Given the description of an element on the screen output the (x, y) to click on. 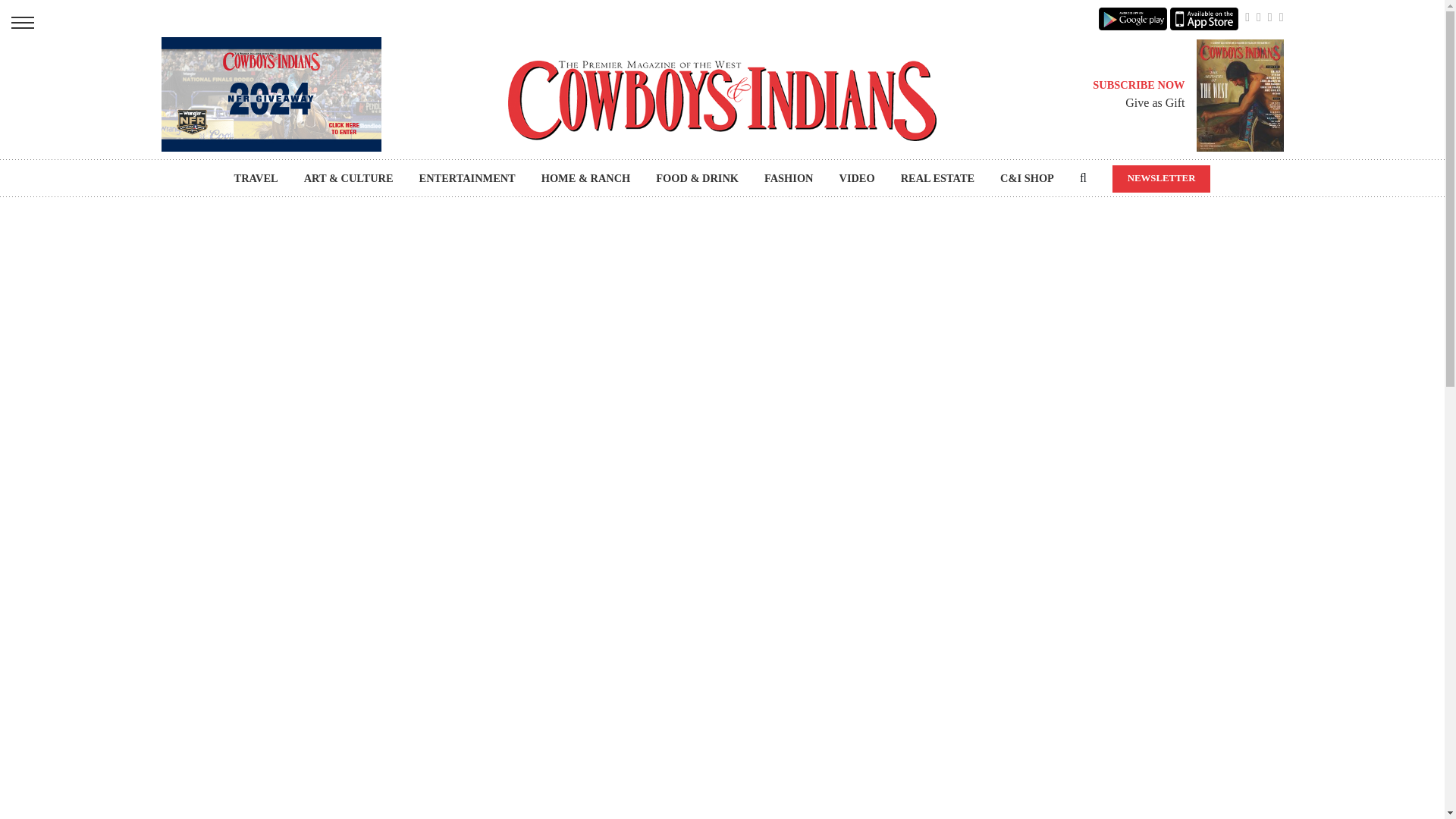
Cowboys and Indians Magazine (722, 100)
